Given the description of an element on the screen output the (x, y) to click on. 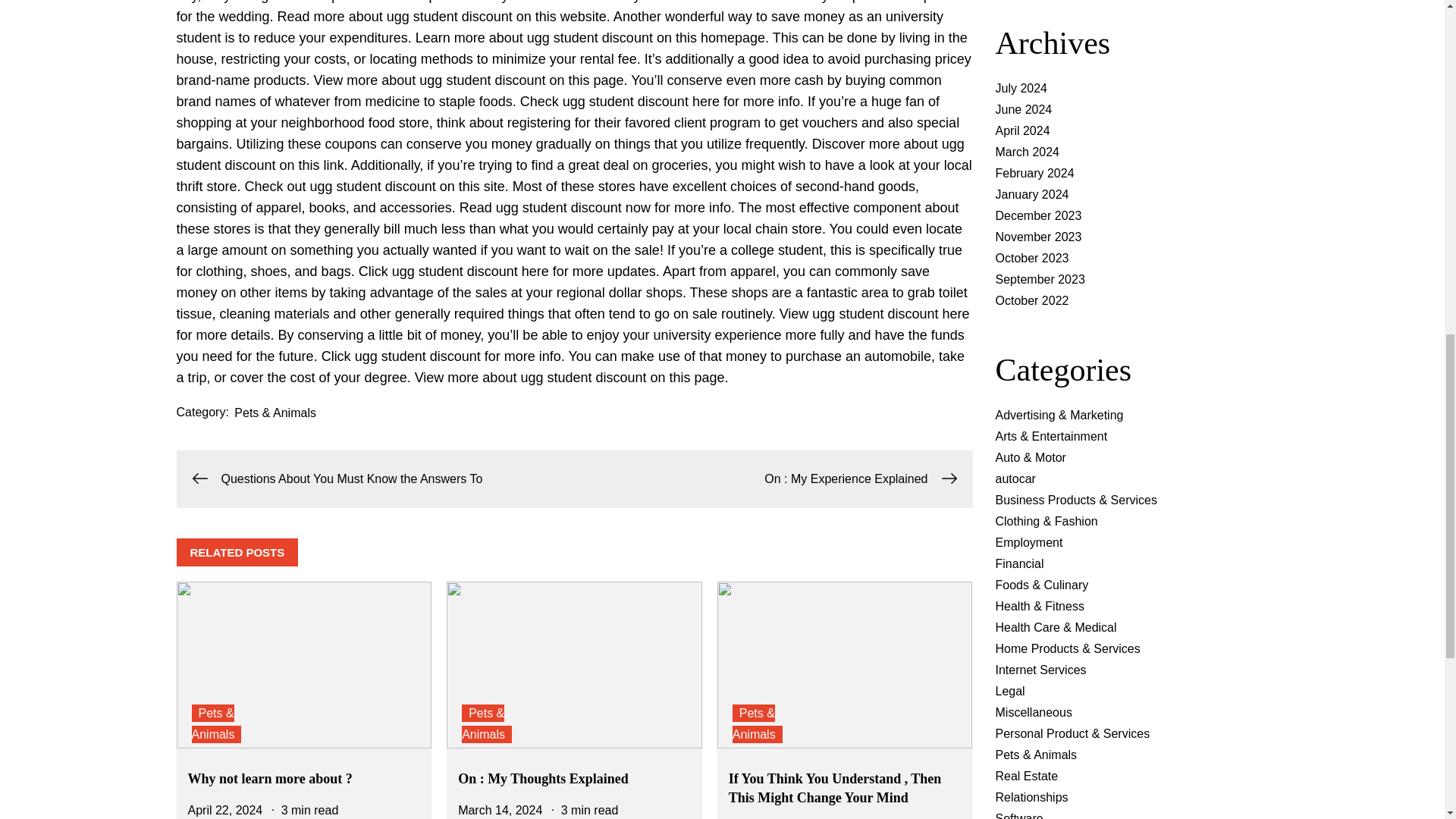
November 2023 (1037, 236)
July 2024 (1020, 88)
April 22, 2024 (225, 809)
January 2024 (1031, 194)
March 14, 2024 (499, 809)
December 2023 (1037, 215)
March 2024 (1026, 151)
February 2024 (1034, 173)
On : My Thoughts Explained (543, 778)
